Given the description of an element on the screen output the (x, y) to click on. 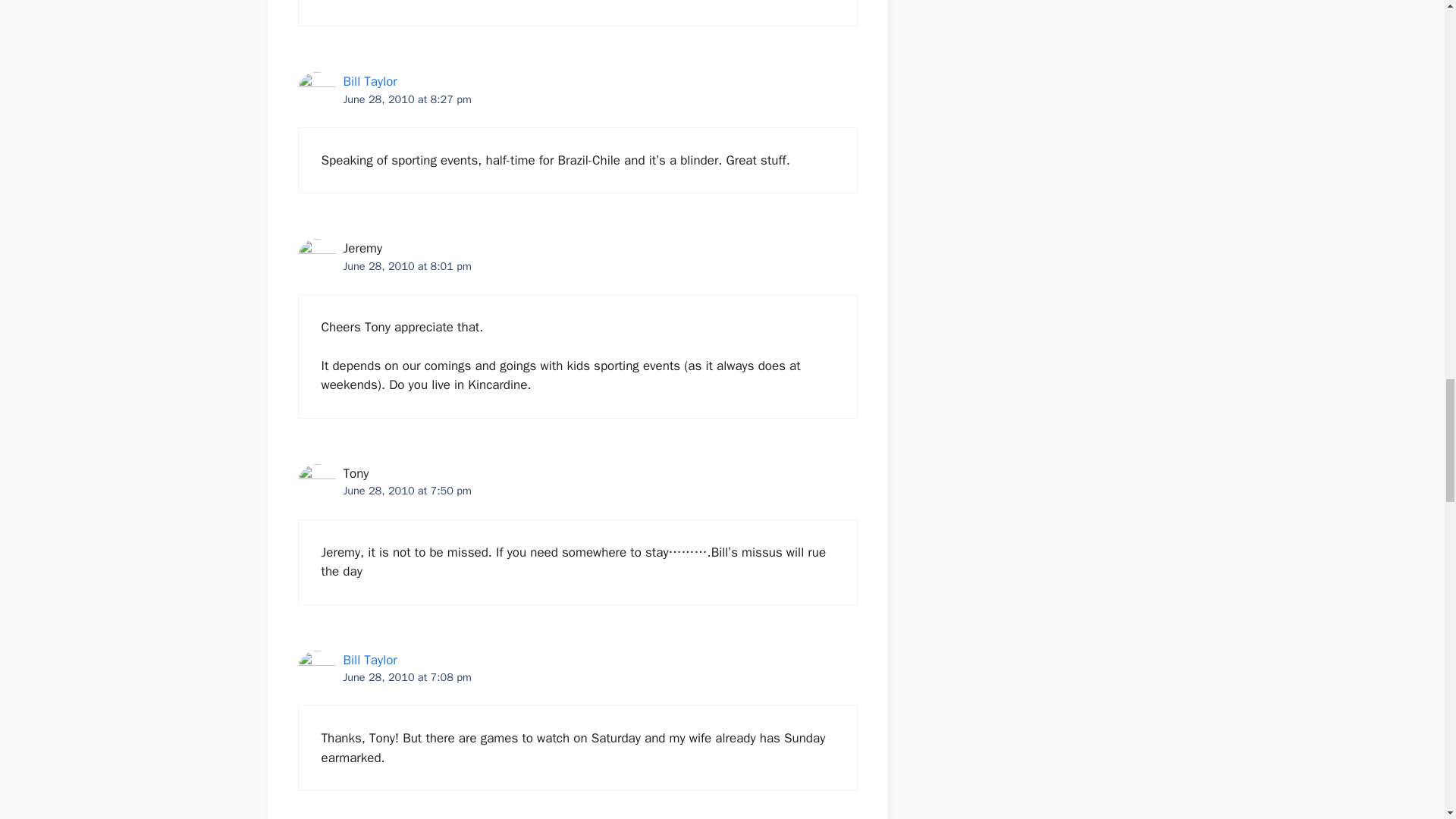
June 28, 2010 at 7:50 pm (406, 490)
June 28, 2010 at 7:08 pm (406, 676)
Bill Taylor (369, 81)
Bill Taylor (369, 659)
June 28, 2010 at 8:27 pm (406, 99)
June 28, 2010 at 8:01 pm (406, 265)
